Given the description of an element on the screen output the (x, y) to click on. 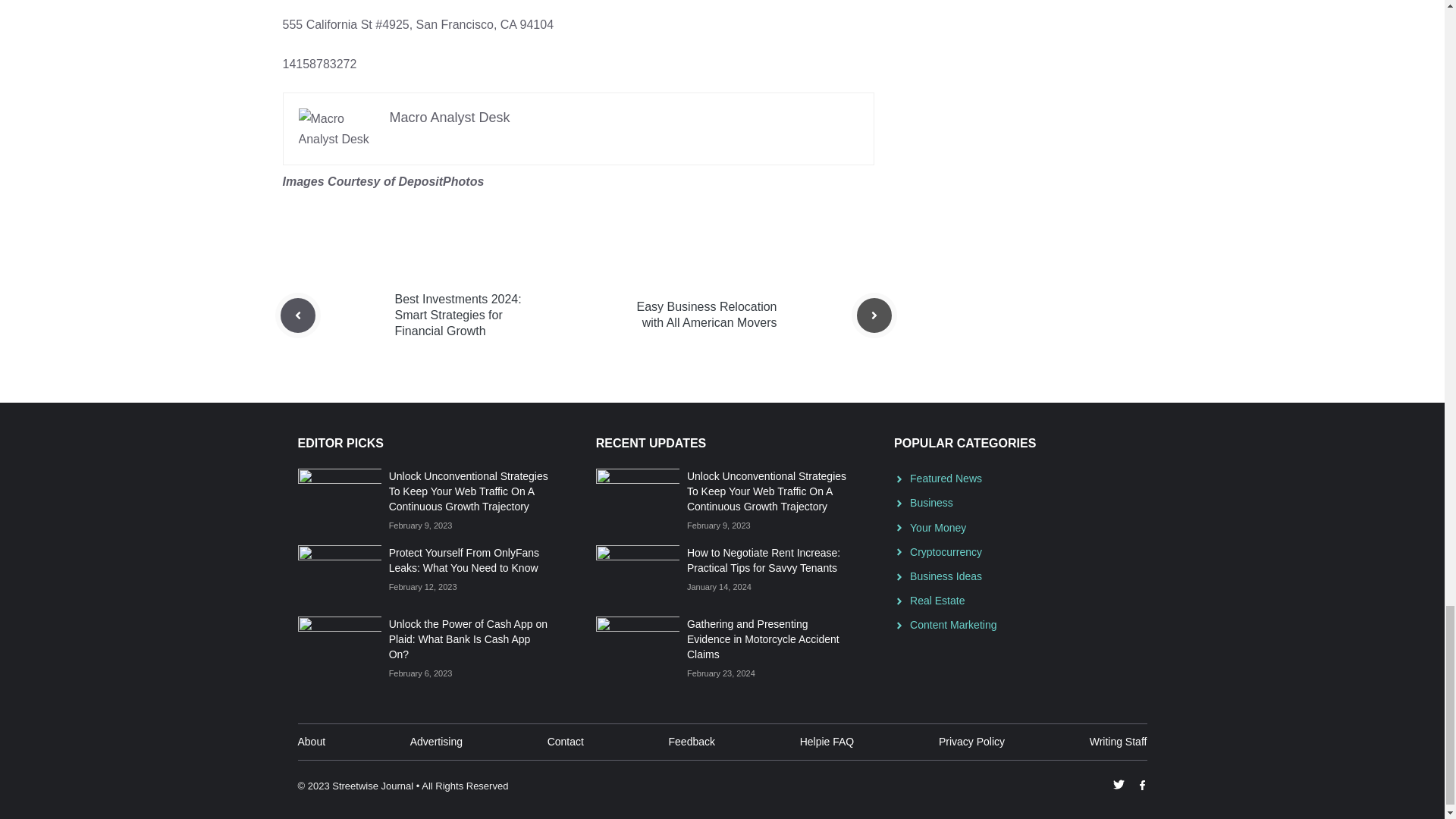
DepositPhotos (440, 181)
Easy Business Relocation with All American Movers (707, 314)
Protect Yourself From OnlyFans Leaks: What You Need to Know (463, 560)
Macro Analyst Desk (450, 117)
Best Investments 2024: Smart Strategies for Financial Growth (457, 314)
